Given the description of an element on the screen output the (x, y) to click on. 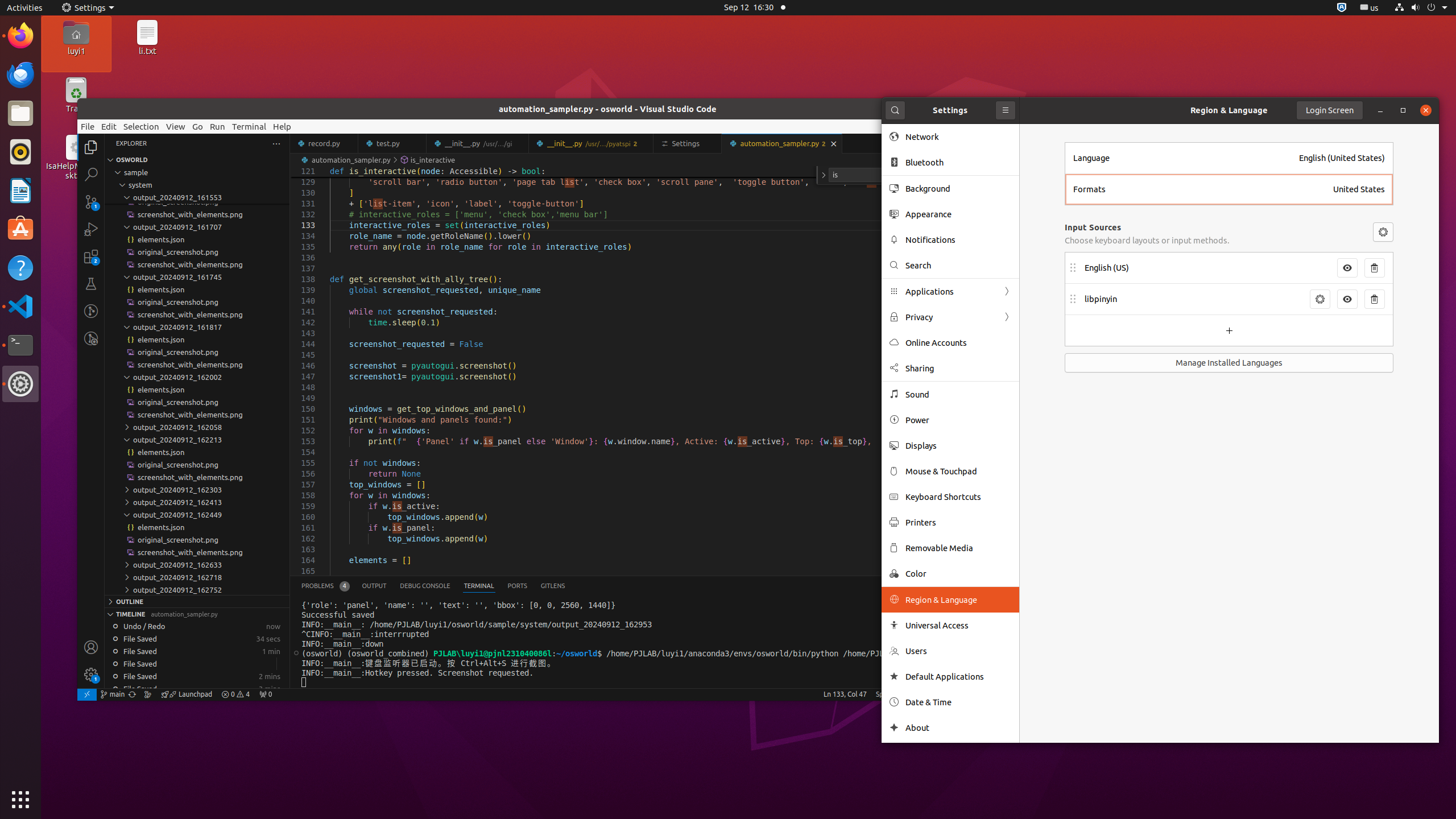
IsaHelpMain.desktop Element type: label (75, 170)
About Element type: icon (893, 727)
Firefox Web Browser Element type: push-button (20, 35)
